Given the description of an element on the screen output the (x, y) to click on. 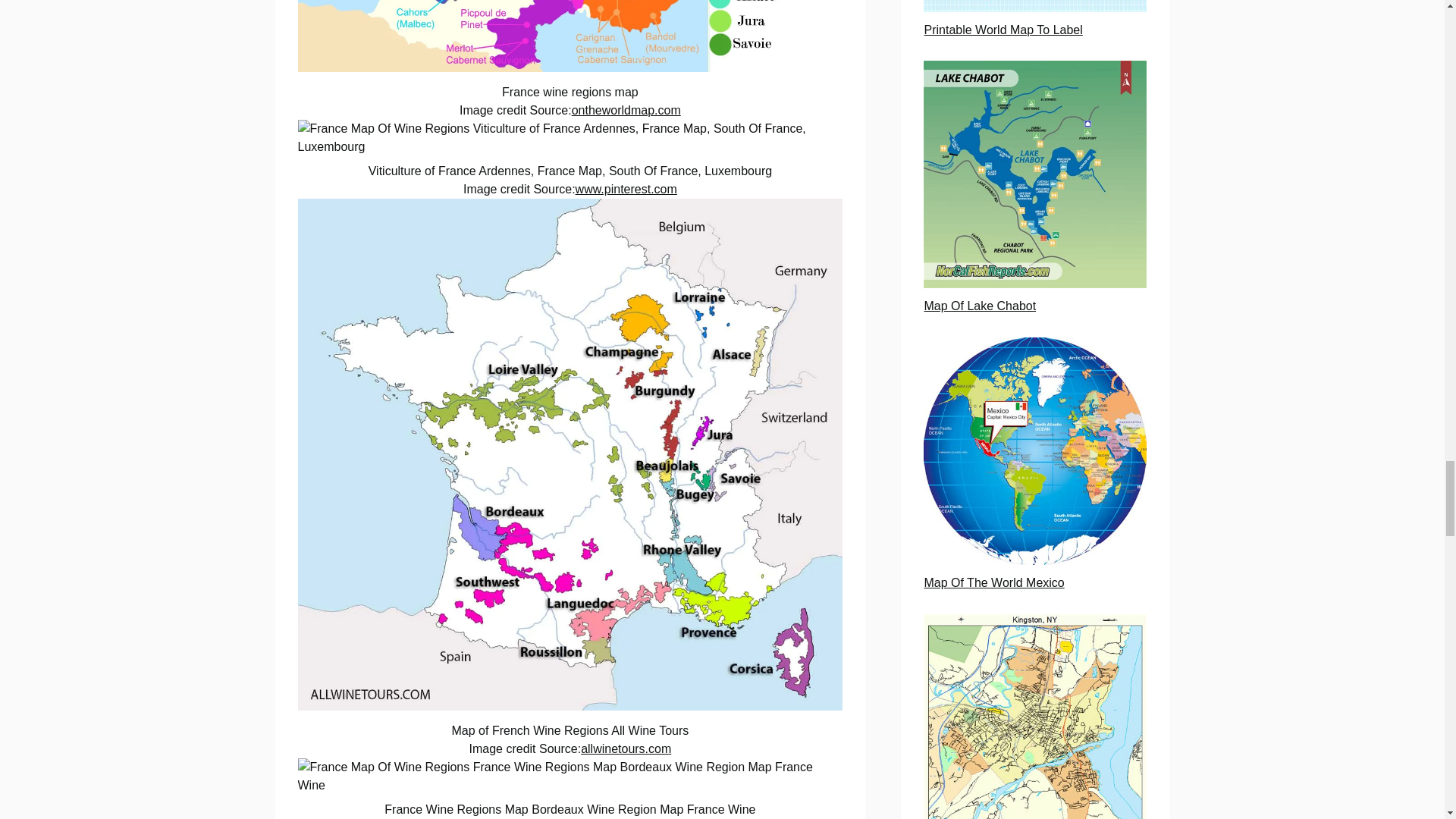
ontheworldmap.com (626, 110)
www.pinterest.com (626, 188)
France Map Of Wine Regions France wine regions map (570, 36)
allwinetours.com (625, 748)
